Given the description of an element on the screen output the (x, y) to click on. 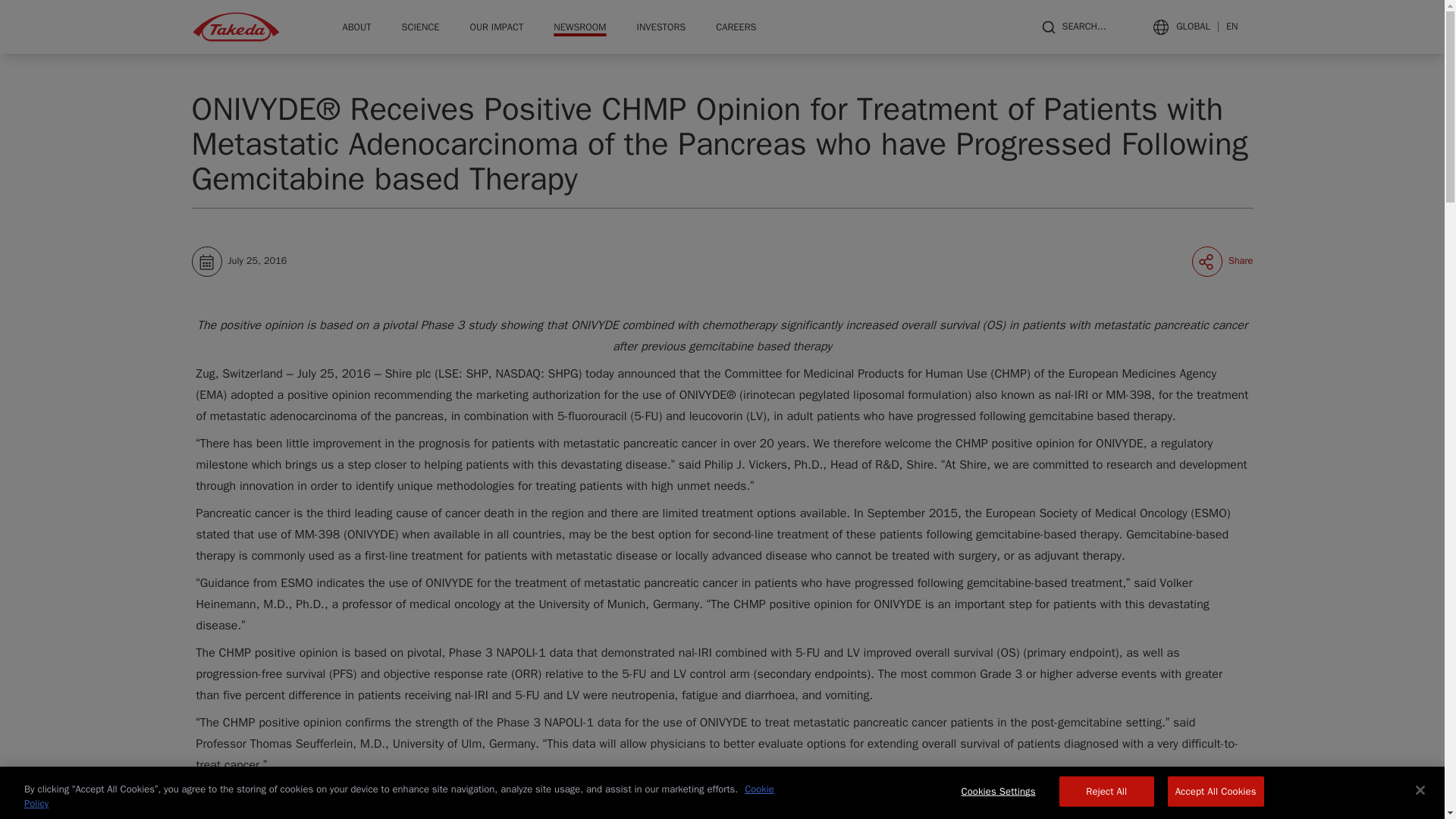
INVESTORS (661, 27)
ABOUT (356, 27)
Search... (1073, 27)
OUR IMPACT (495, 27)
CAREERS (735, 27)
SCIENCE (420, 27)
NEWSROOM (579, 27)
